Given the description of an element on the screen output the (x, y) to click on. 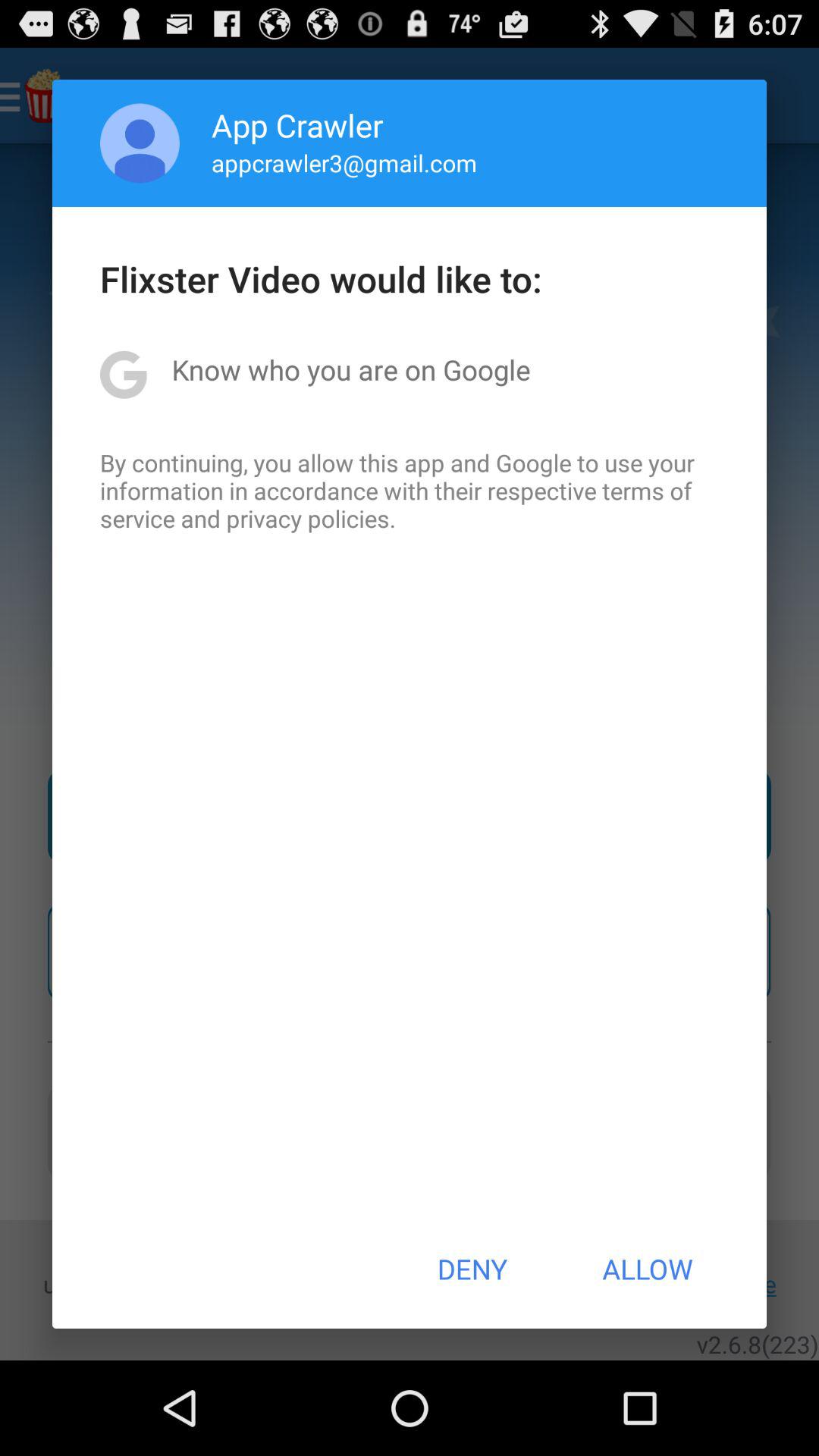
select the know who you item (350, 369)
